Given the description of an element on the screen output the (x, y) to click on. 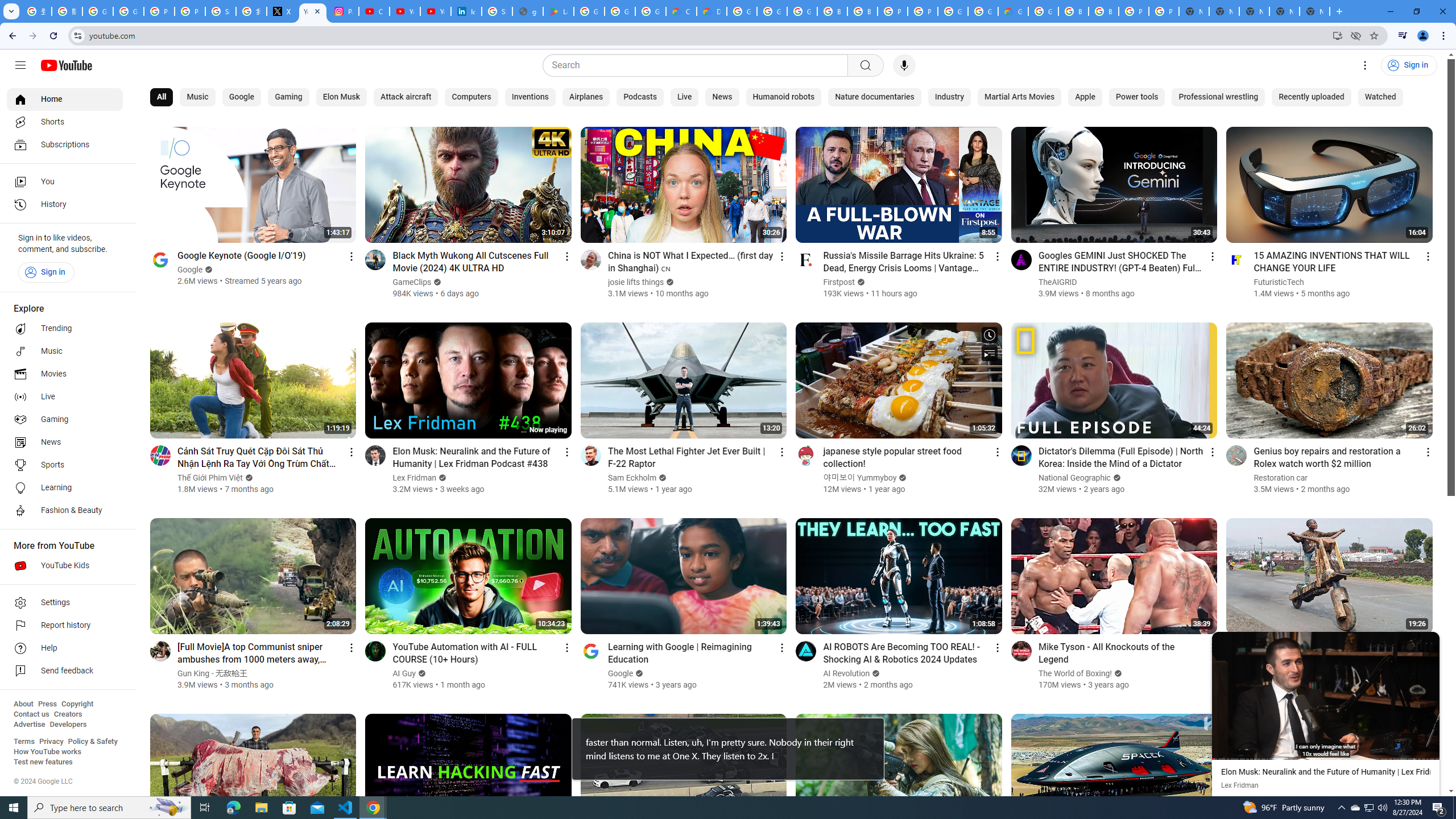
YouTube Culture & Trends - YouTube Top 10, 2021 (434, 11)
Third-party cookies blocked (1355, 35)
Google (620, 673)
AI Revolution (846, 673)
Google Workspace - Specific Terms (619, 11)
Sign in - Google Accounts (496, 11)
